Given the description of an element on the screen output the (x, y) to click on. 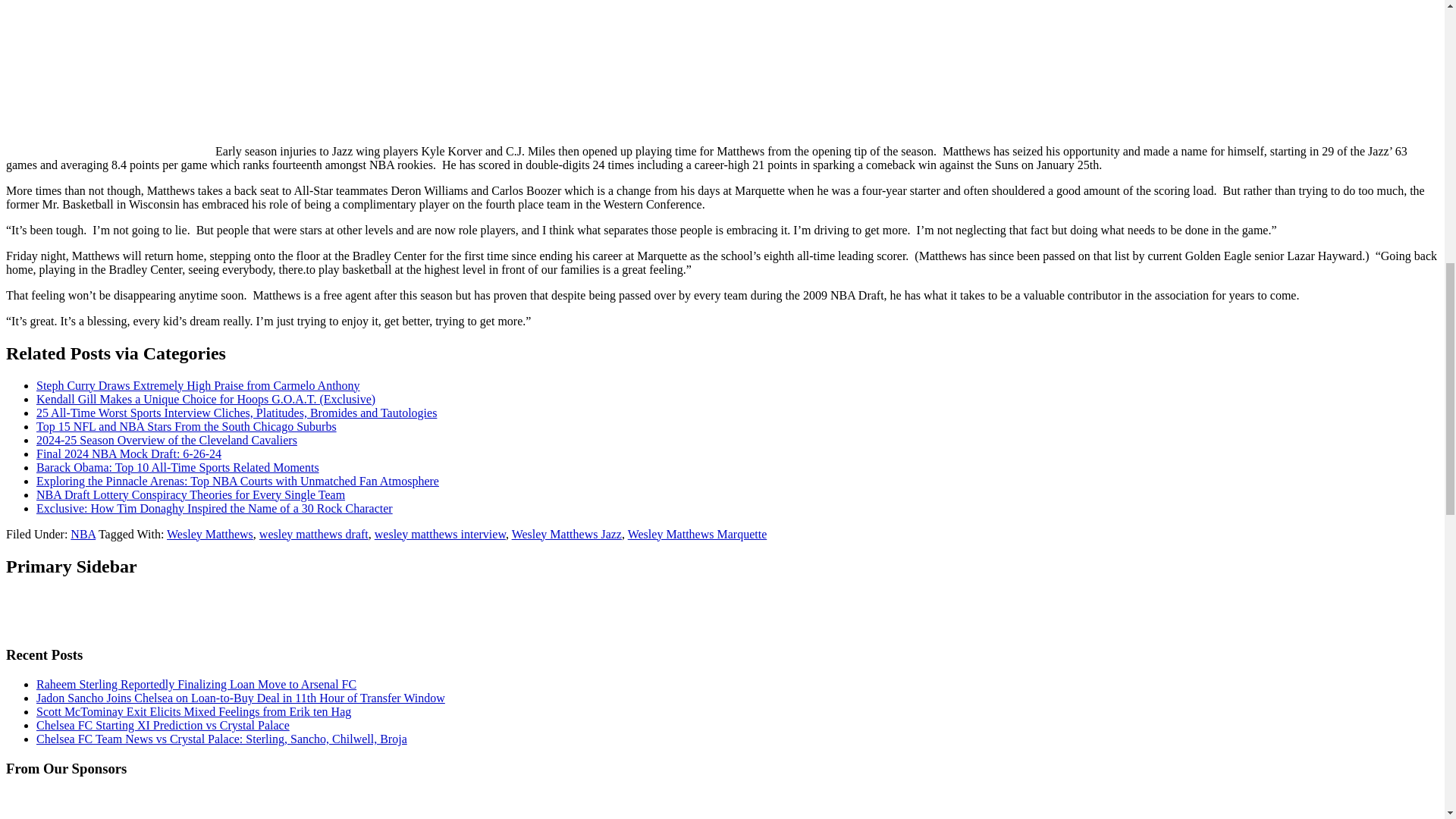
Wesley Matthews Jazz (566, 533)
Wesley Matthews Marquette (697, 533)
Top 15 NFL and NBA Stars From the South Chicago Suburbs (186, 426)
Final 2024 NBA Mock Draft: 6-26-24 (128, 453)
wesley matthews interview (439, 533)
Steph Curry Draws Extremely High Praise from Carmelo Anthony (197, 385)
2024-25 Season Overview of the Cleveland Cavaliers (166, 440)
